Given the description of an element on the screen output the (x, y) to click on. 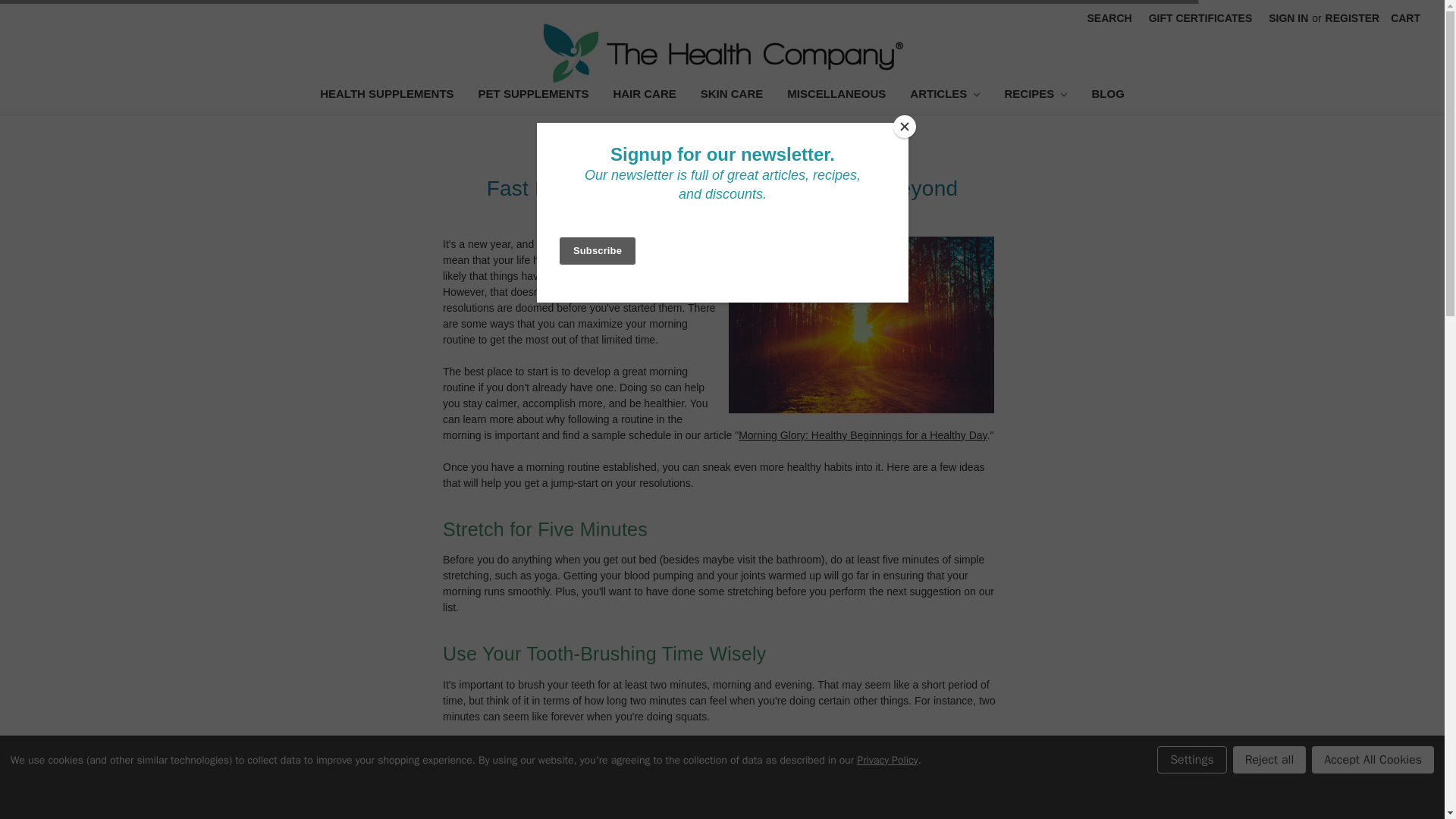
HAIR CARE (643, 95)
BLOG (1106, 95)
GIFT CERTIFICATES (1200, 18)
SIGN IN (1288, 18)
RECIPES (1034, 95)
MISCELLANEOUS (836, 95)
ARTICLES (944, 95)
HEALTH SUPPLEMENTS (386, 95)
SKIN CARE (732, 95)
CART (1404, 18)
